Given the description of an element on the screen output the (x, y) to click on. 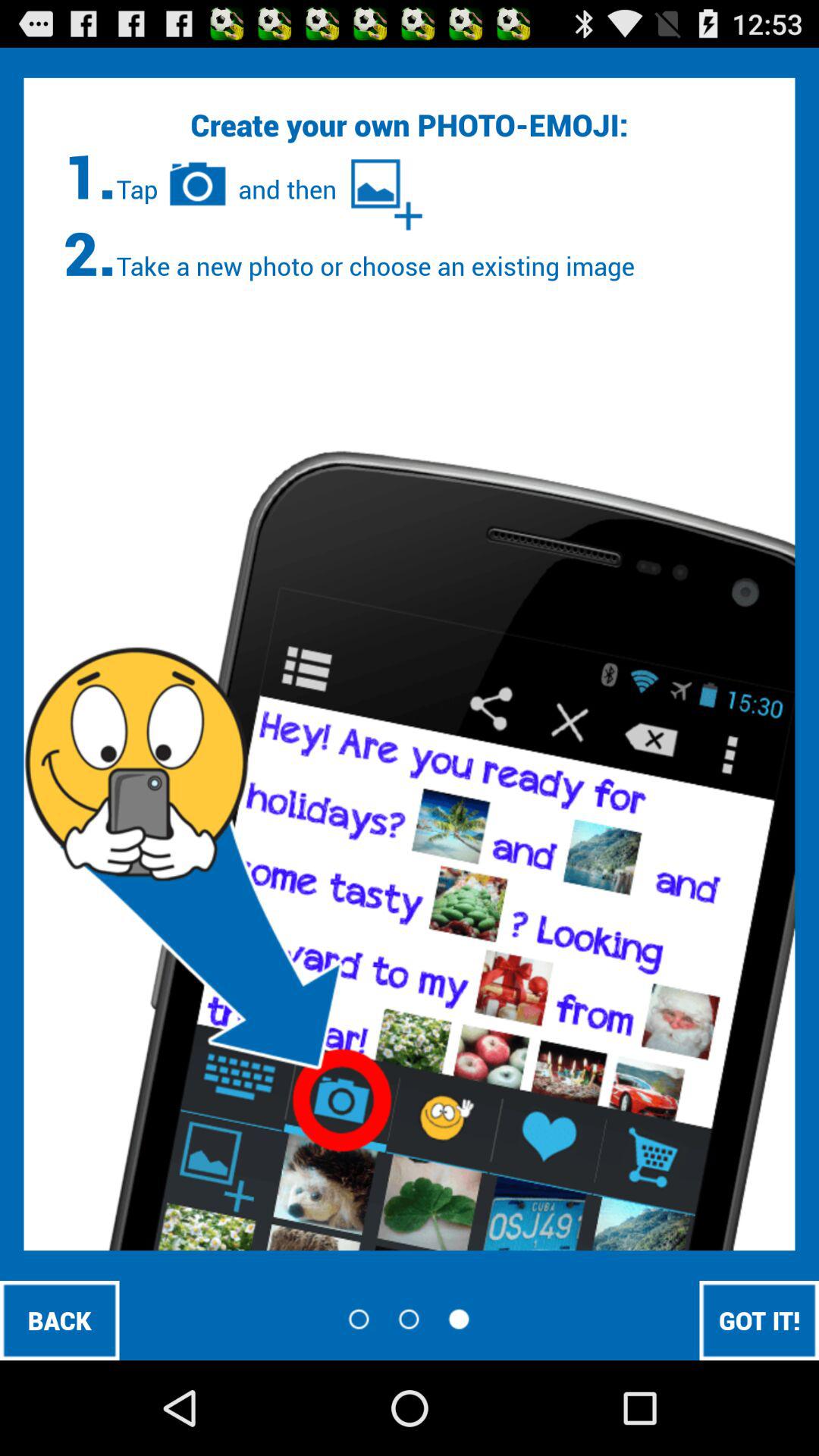
scroll to back icon (59, 1320)
